Given the description of an element on the screen output the (x, y) to click on. 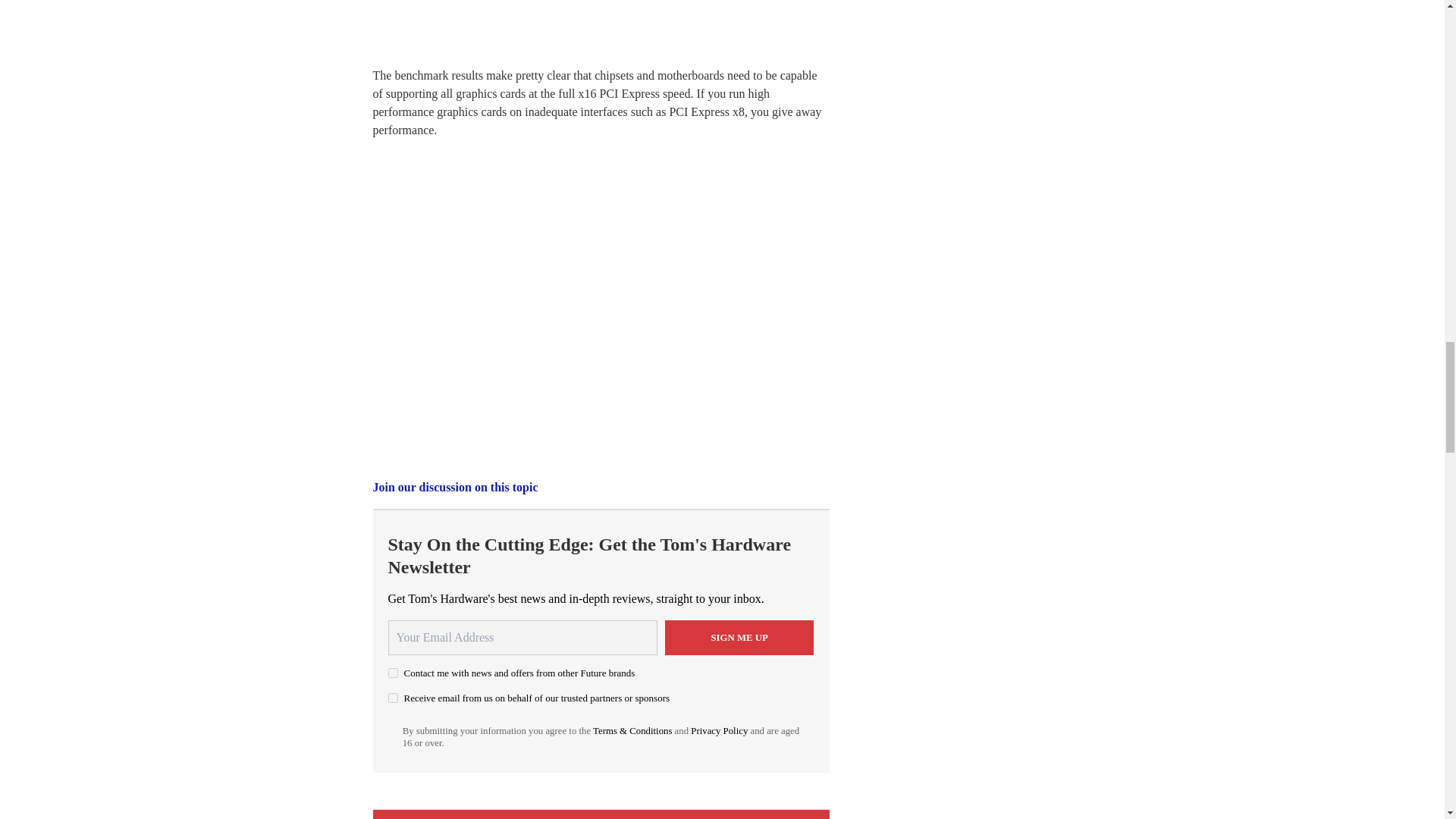
Sign me up (739, 637)
on (392, 673)
on (392, 697)
